Given the description of an element on the screen output the (x, y) to click on. 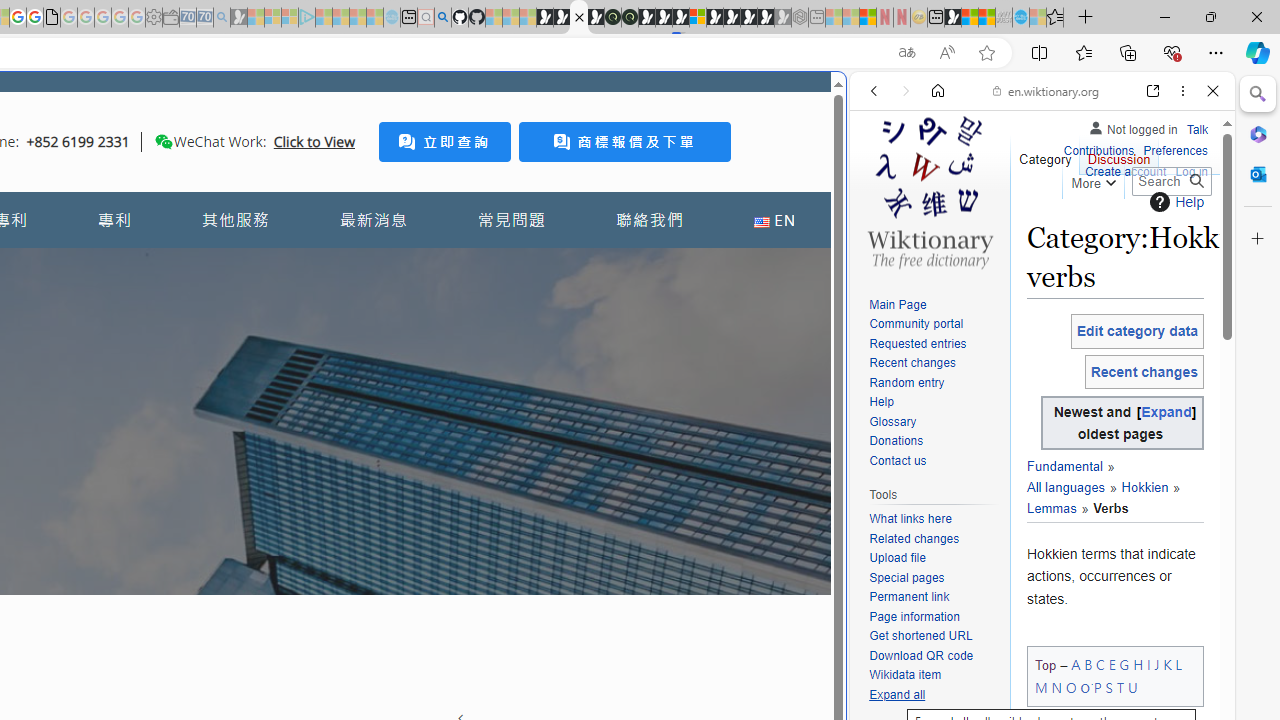
A (1076, 664)
Contact us (934, 461)
J (1156, 664)
Contributions (1098, 148)
Recent changes (912, 362)
Expand all (897, 694)
